Given the description of an element on the screen output the (x, y) to click on. 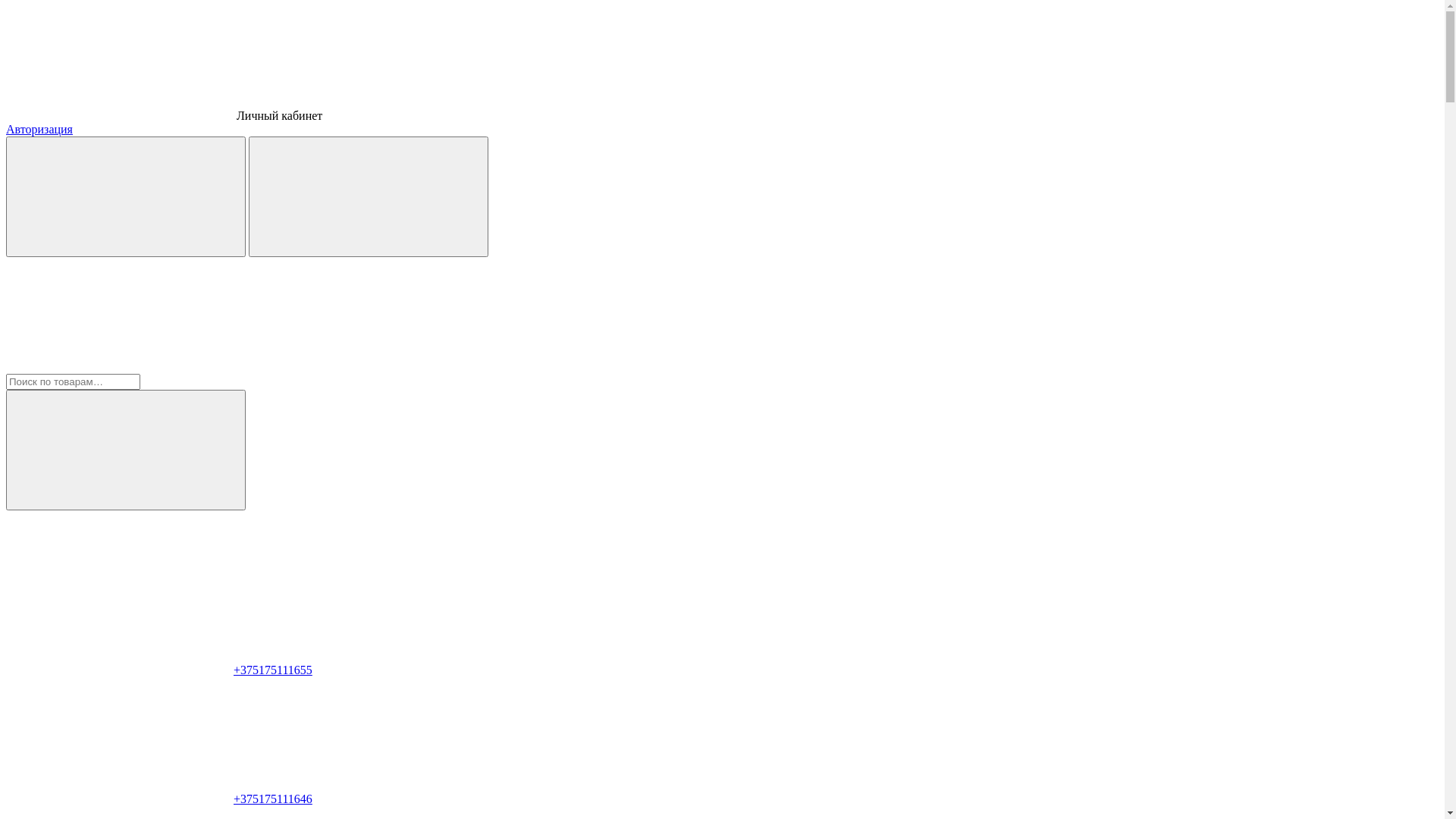
+375175111655 Element type: text (159, 669)
+375175111646 Element type: text (159, 798)
